Given the description of an element on the screen output the (x, y) to click on. 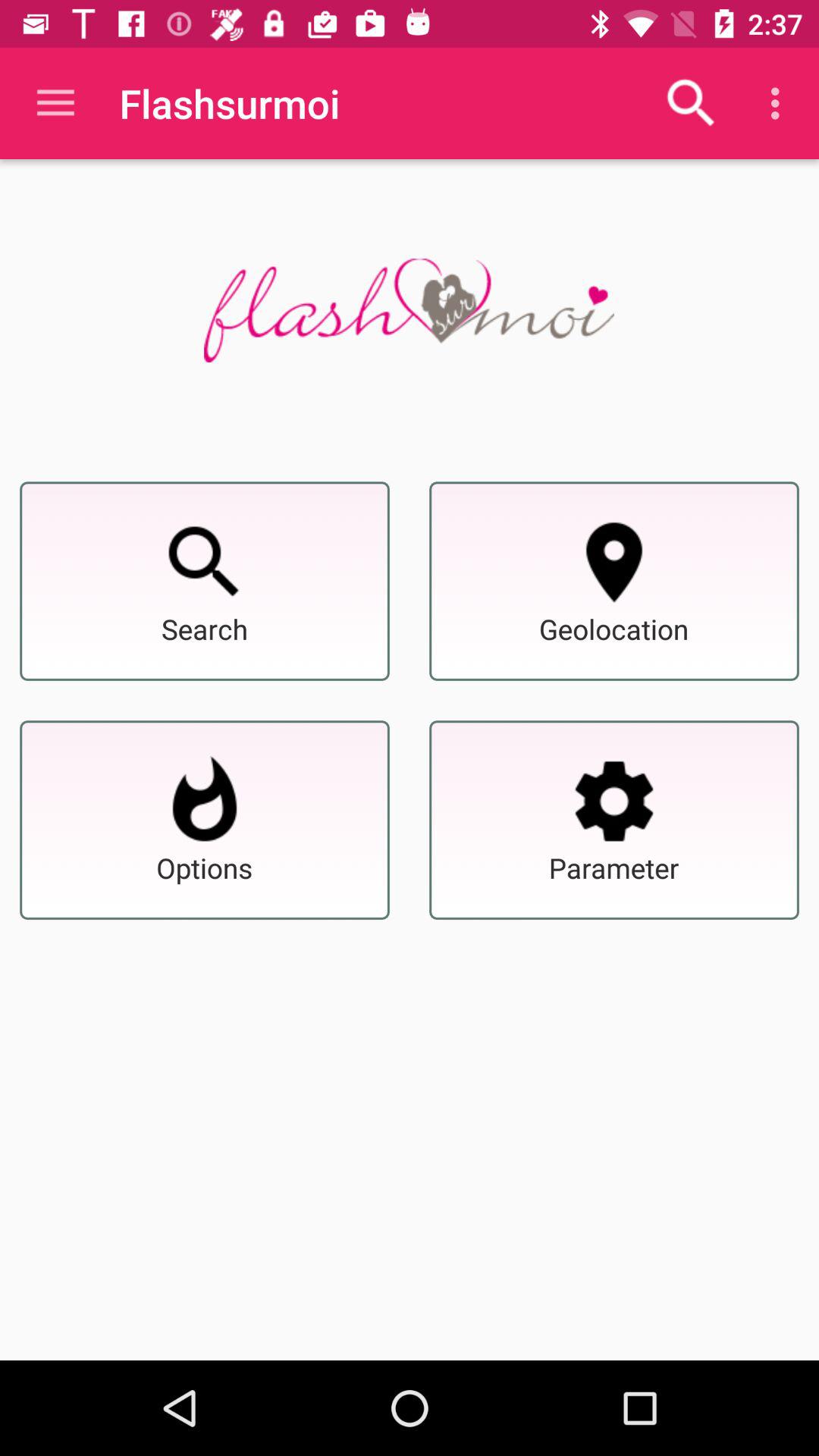
set the parameter (614, 801)
